Given the description of an element on the screen output the (x, y) to click on. 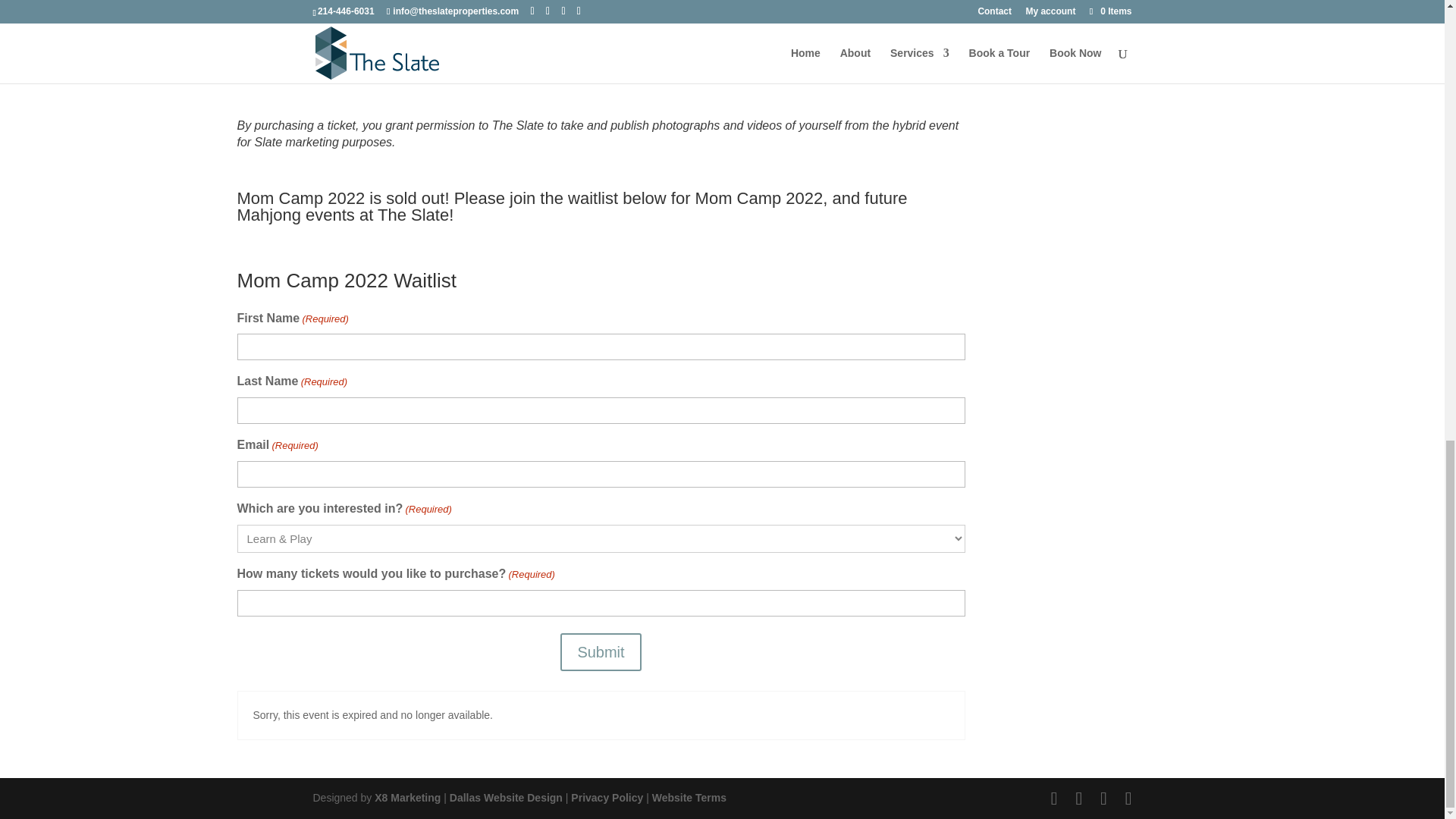
Dallas Website Design (505, 797)
Submit (600, 651)
